Given the description of an element on the screen output the (x, y) to click on. 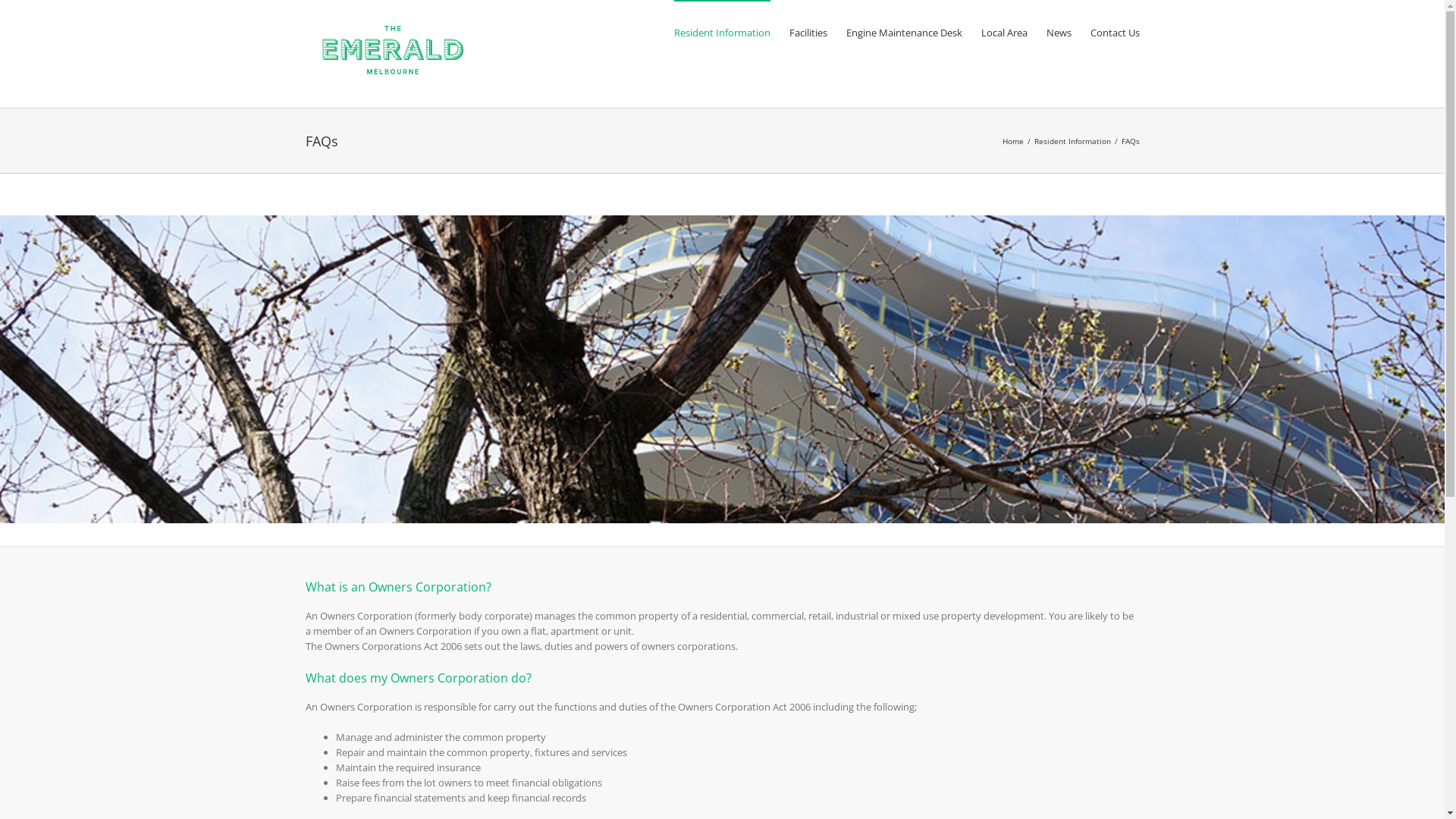
Local Area Element type: text (1004, 32)
Home Element type: text (1012, 139)
Engine Maintenance Desk Element type: text (904, 32)
Contact Us Element type: text (1114, 32)
Resident Information Element type: text (721, 32)
News Element type: text (1058, 32)
Facilities Element type: text (807, 32)
Resident Information Element type: text (1072, 139)
